Given the description of an element on the screen output the (x, y) to click on. 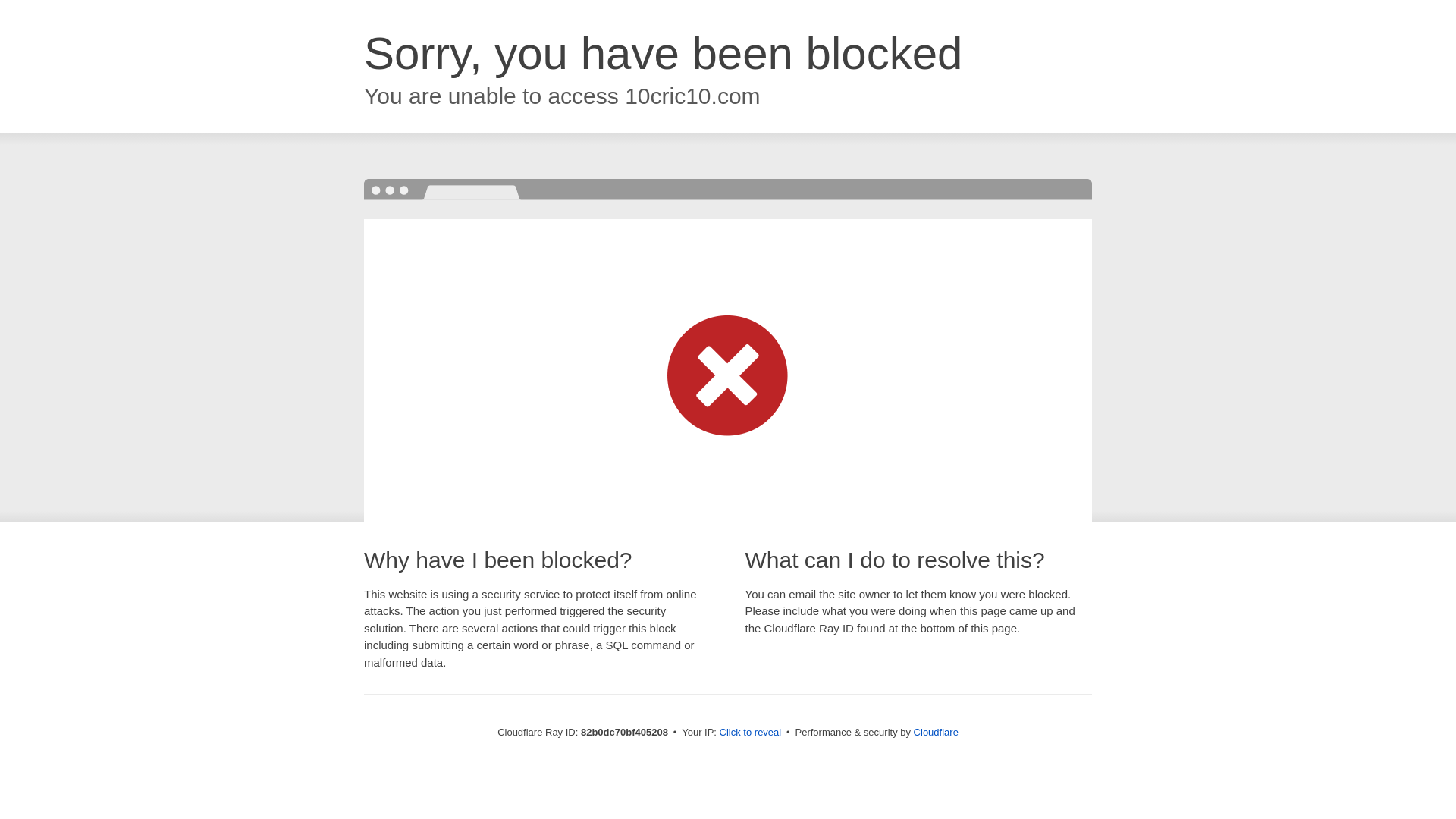
Click to reveal Element type: text (750, 732)
Cloudflare Element type: text (935, 731)
